Given the description of an element on the screen output the (x, y) to click on. 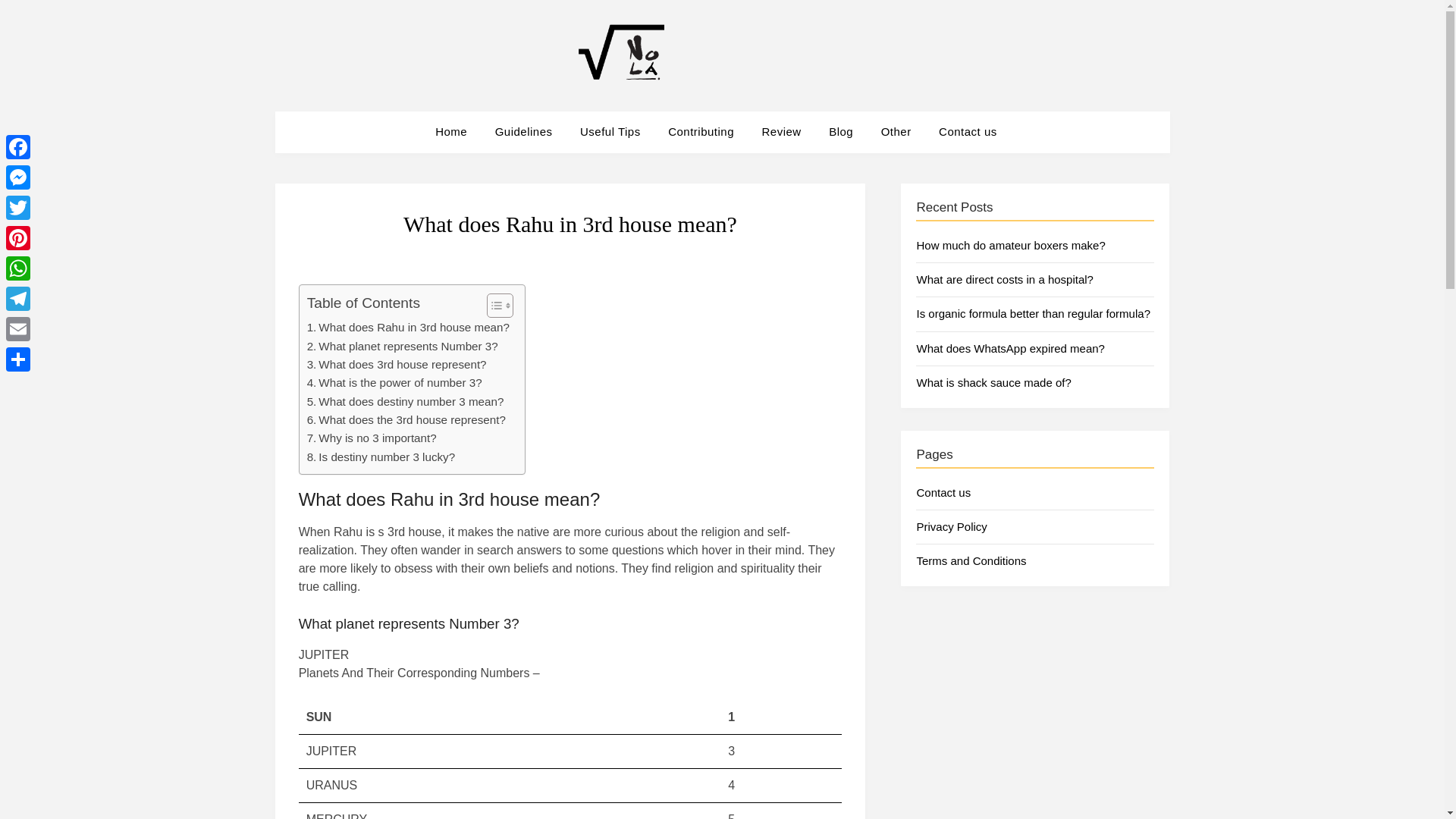
Privacy Policy (951, 526)
Why is no 3 important? (371, 438)
What does Rahu in 3rd house mean? (408, 327)
What does Rahu in 3rd house mean? (408, 327)
How much do amateur boxers make? (1010, 245)
Contributing (700, 131)
Why is no 3 important? (371, 438)
Blog (840, 131)
Home (457, 131)
What does destiny number 3 mean? (405, 402)
